Given the description of an element on the screen output the (x, y) to click on. 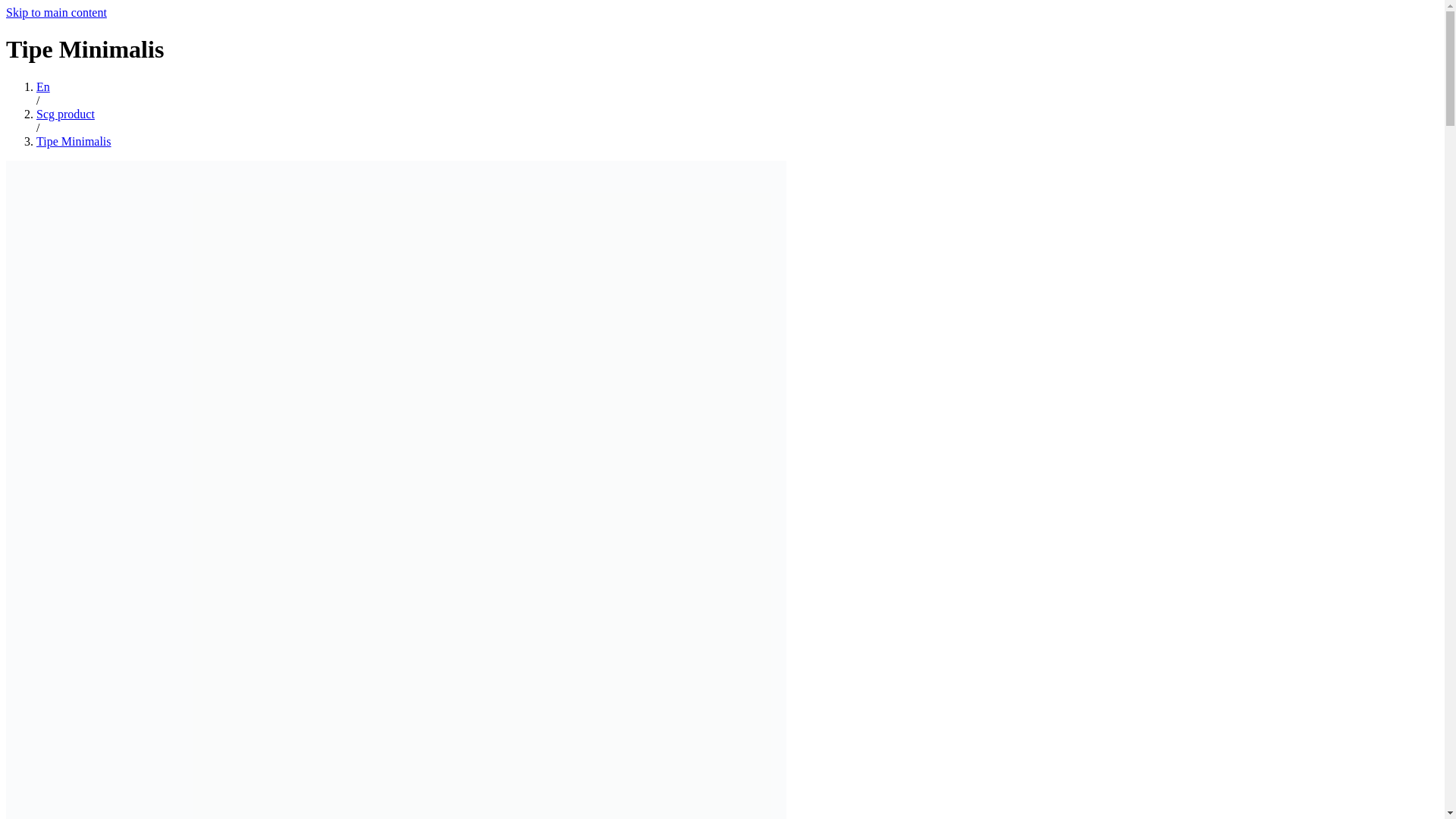
Tipe Minimalis (74, 141)
En (42, 86)
Scg product (65, 113)
Skip to main content (55, 11)
